Given the description of an element on the screen output the (x, y) to click on. 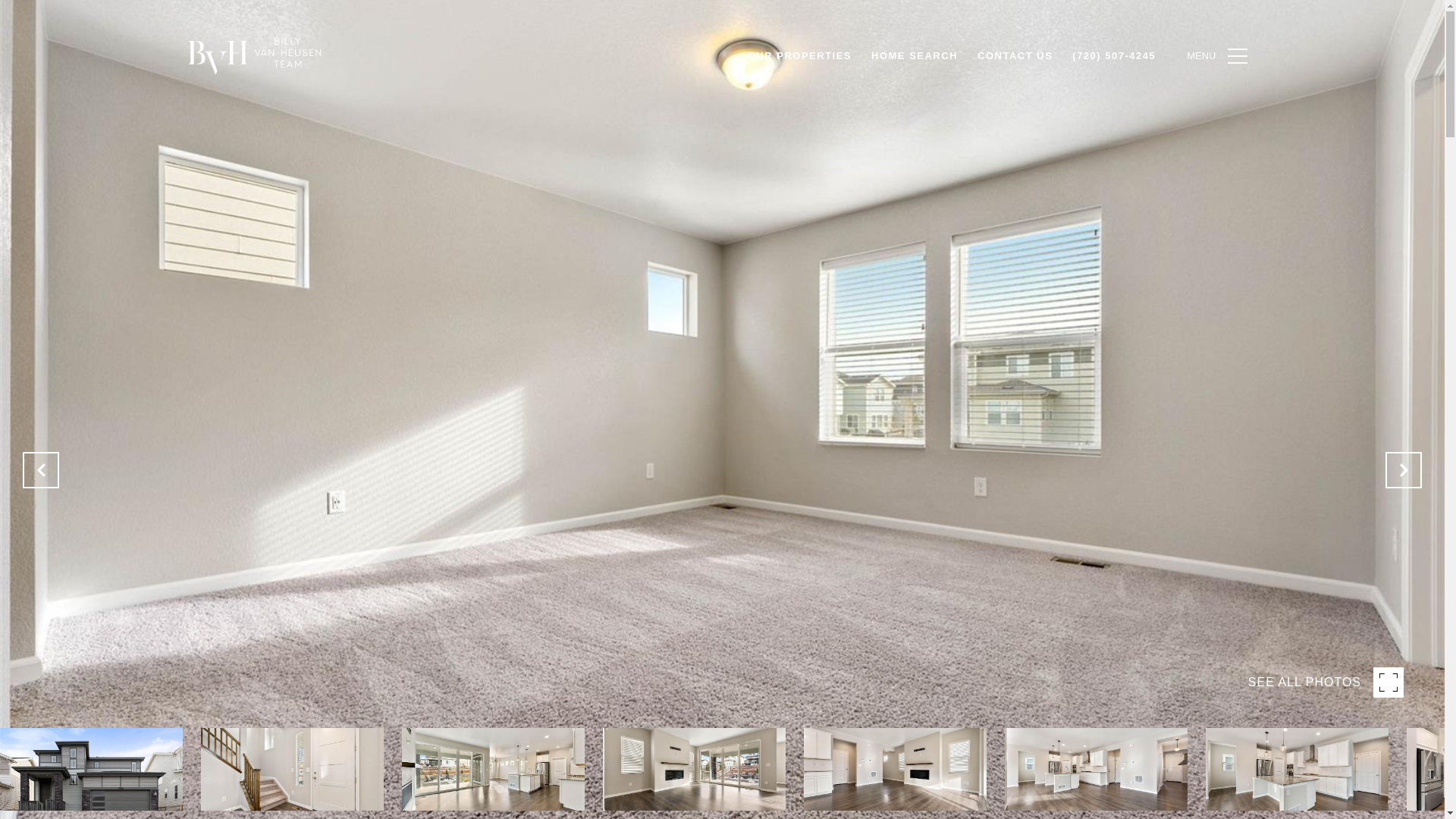
HOME SEARCH (914, 55)
OUR PROPERTIES (799, 55)
CONTACT US (1015, 55)
